Given the description of an element on the screen output the (x, y) to click on. 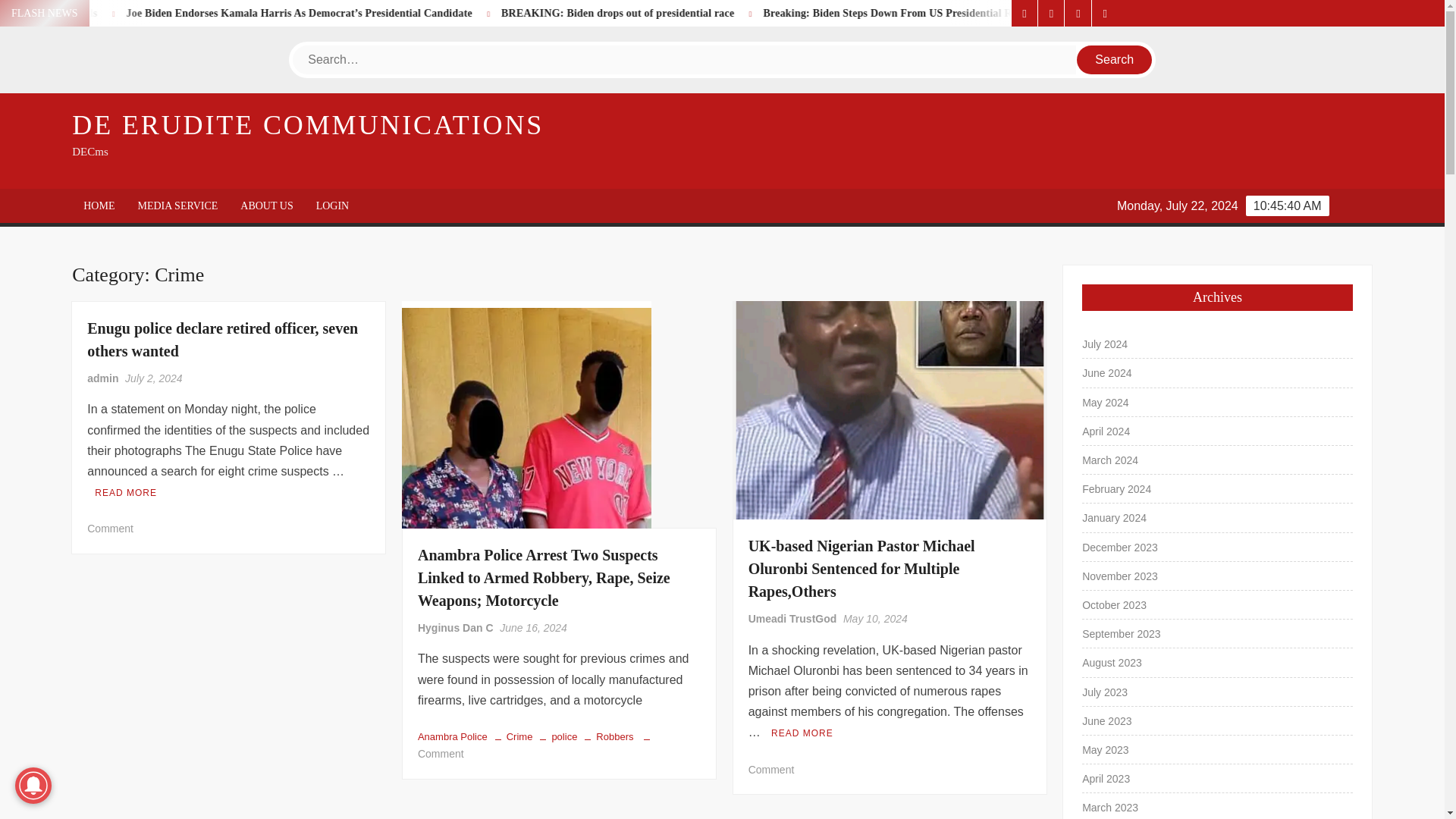
BREAKING: Biden drops out of presidential race (803, 12)
Search (1115, 59)
Breaking: Biden Steps Down From US Presidential Race (1080, 12)
Court Declines To Stop Fubara From Spending Rivers Funds (142, 12)
Court Declines To Stop Fubara From Spending Rivers Funds (112, 12)
Breaking: Biden Steps Down From US Presidential Race (1015, 12)
BREAKING: Biden drops out of presidential race (739, 12)
Search (1115, 59)
